Given the description of an element on the screen output the (x, y) to click on. 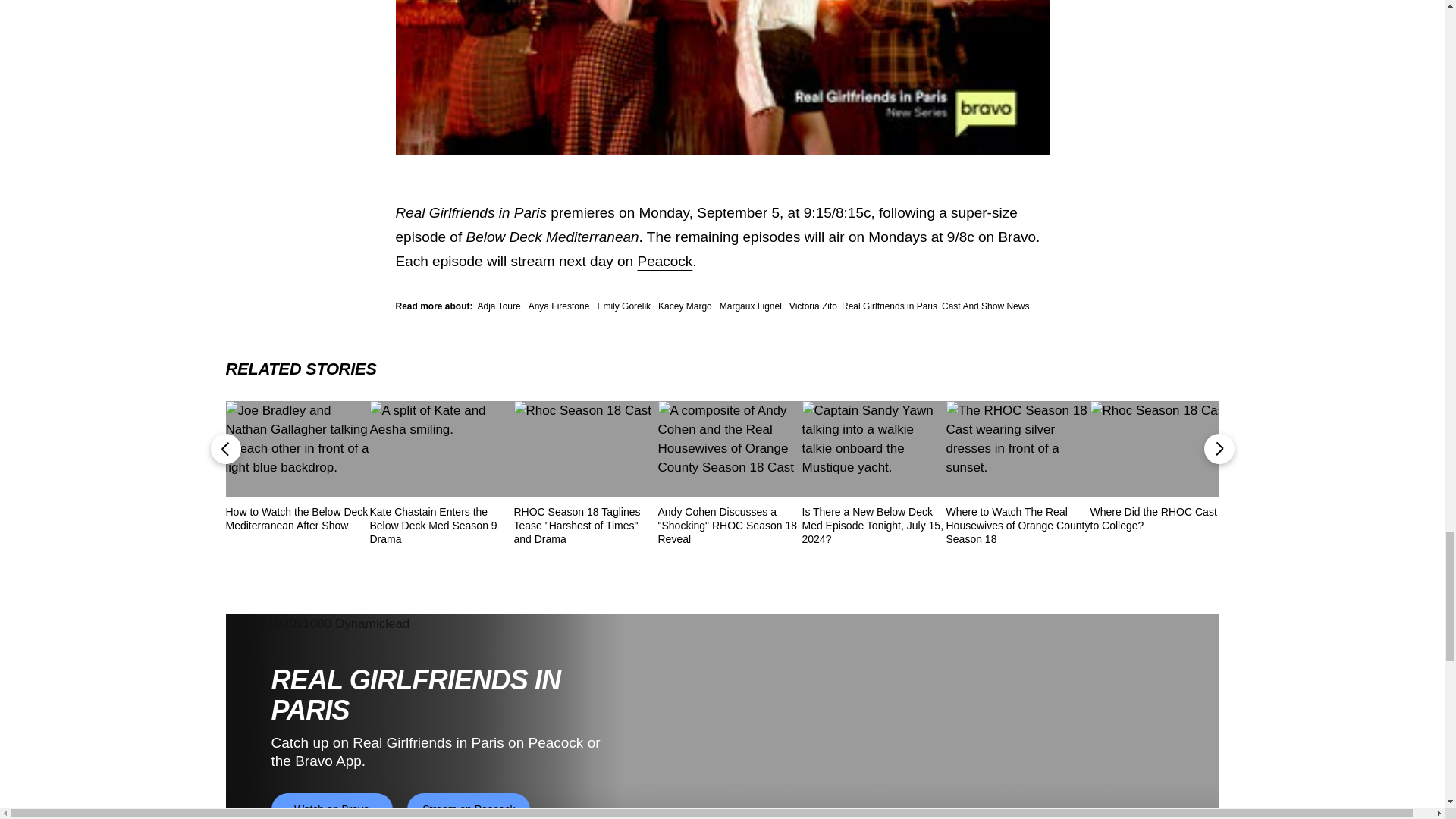
Below Deck Mediterranean (552, 236)
Emily Gorelik (623, 306)
Below Deck Mediterranean (552, 236)
Margaux Lignel (750, 306)
Kacey Margo (684, 306)
Anya Firestone (558, 306)
Adja Toure (499, 306)
Peacock (665, 261)
Victoria Zito (813, 306)
